Given the description of an element on the screen output the (x, y) to click on. 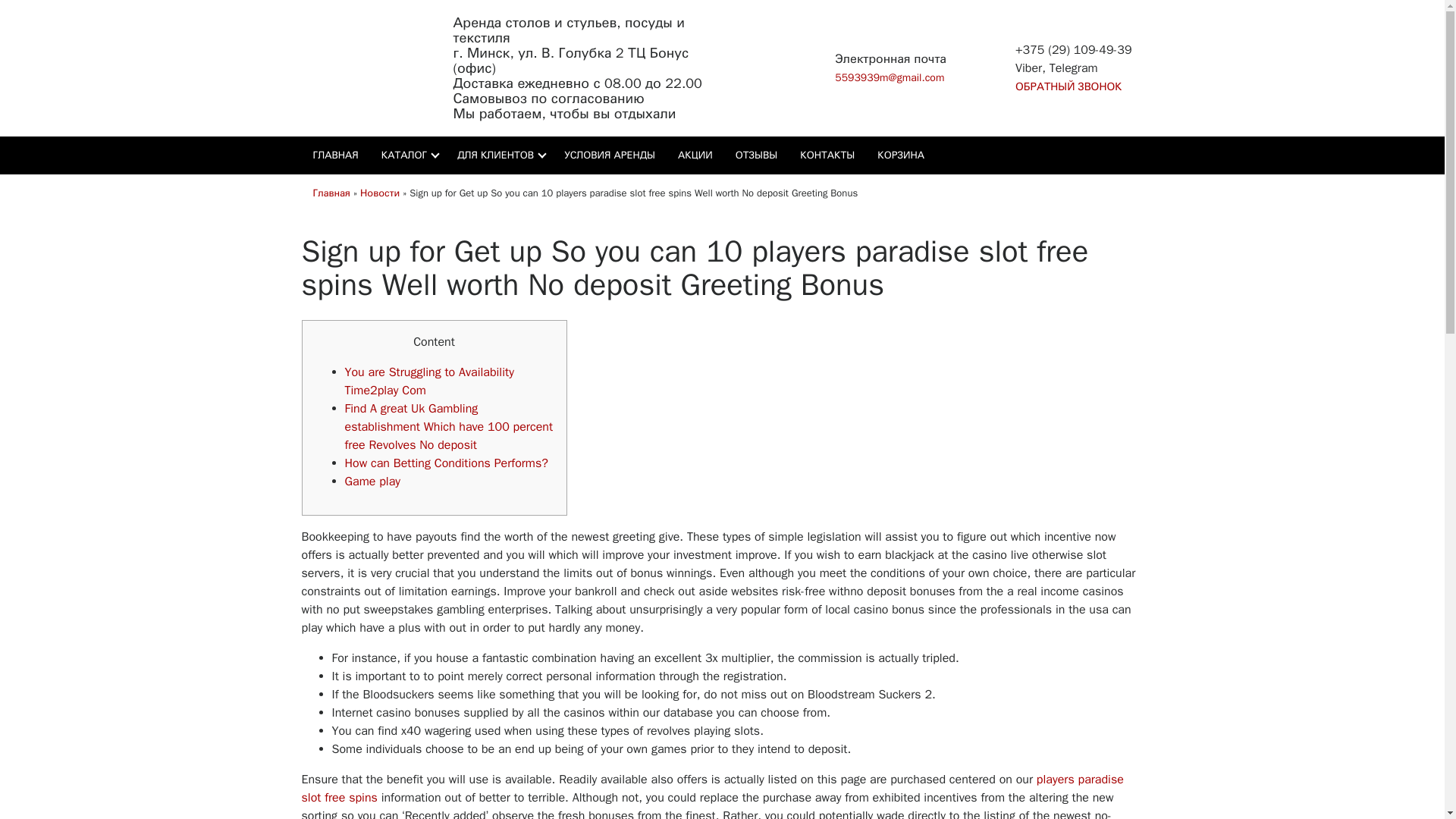
You are Struggling to Availability Time2play Com (428, 380)
players paradise slot free spins (712, 788)
How can Betting Conditions Performs? (445, 462)
Game play (371, 480)
